Given the description of an element on the screen output the (x, y) to click on. 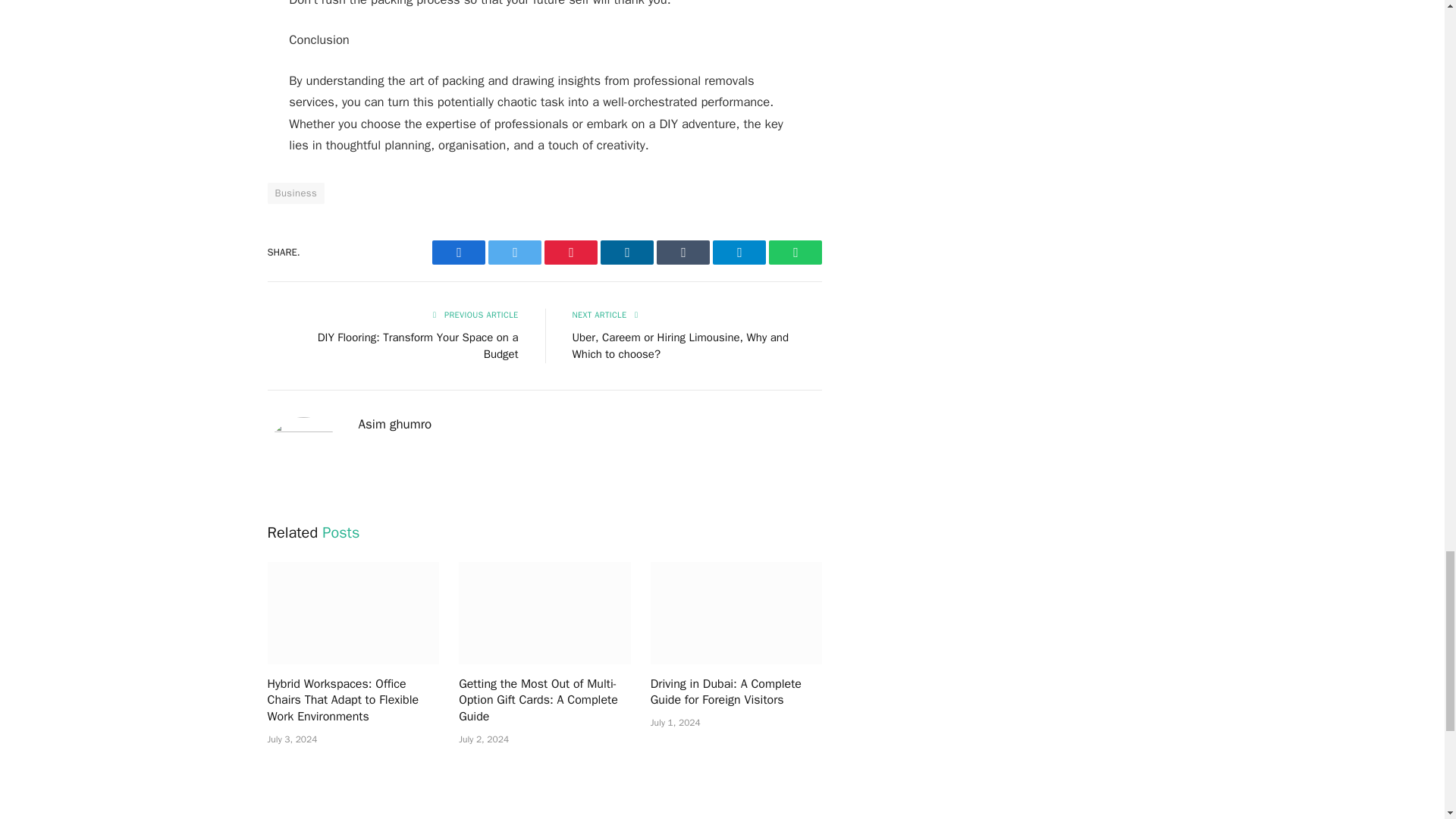
Share on Facebook (458, 252)
